Given the description of an element on the screen output the (x, y) to click on. 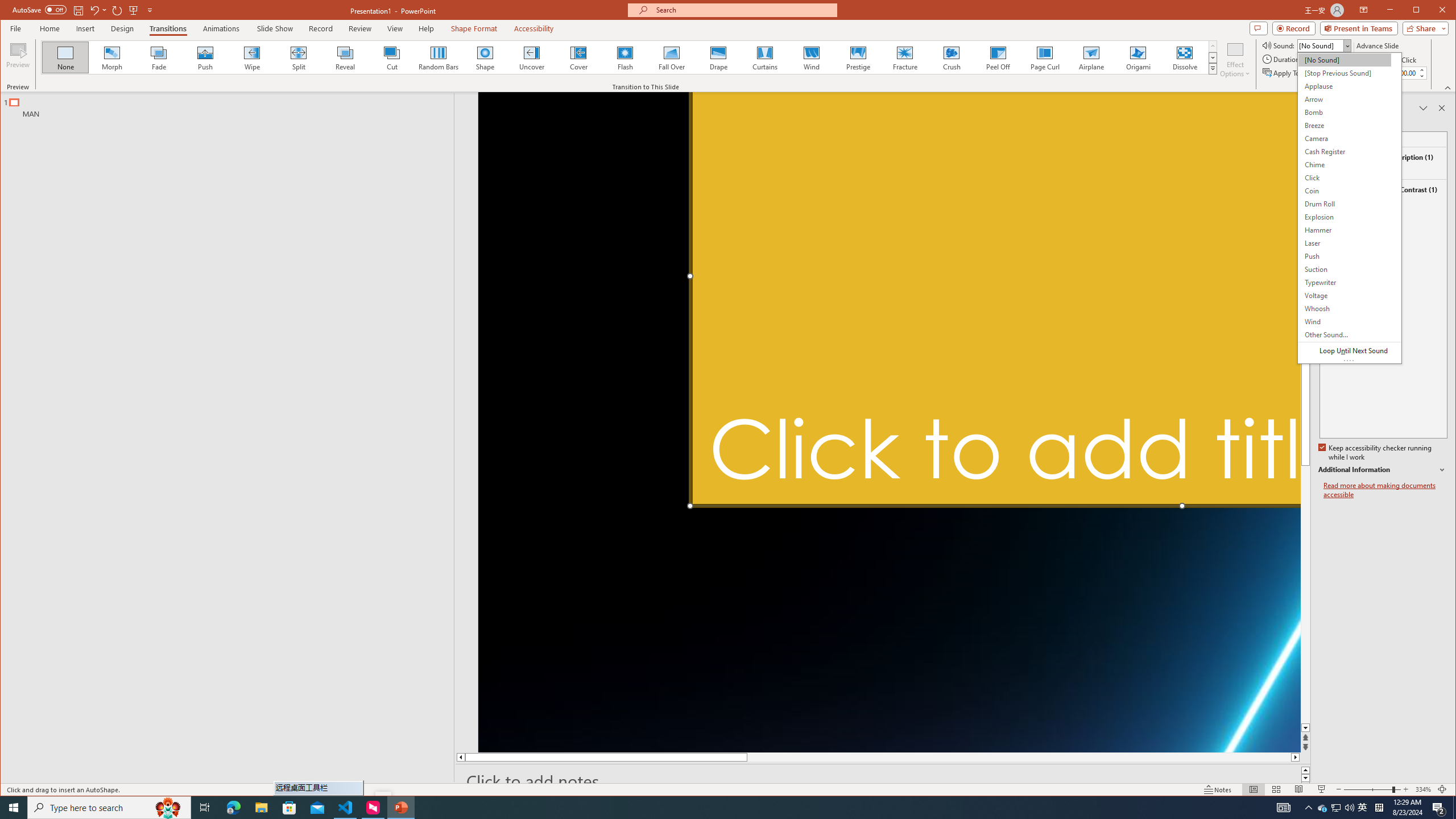
Class: NetUIImage (1213, 68)
Q2790: 100% (1349, 807)
Shape Format (473, 28)
Help (1322, 807)
Microsoft Edge (426, 28)
Action Center, 2 new notifications (233, 807)
Uncover (1439, 807)
Redo (531, 57)
Zoom 334% (117, 9)
Split (1422, 789)
Review (298, 57)
Rectangle (360, 28)
AutoSave (221, 436)
